Given the description of an element on the screen output the (x, y) to click on. 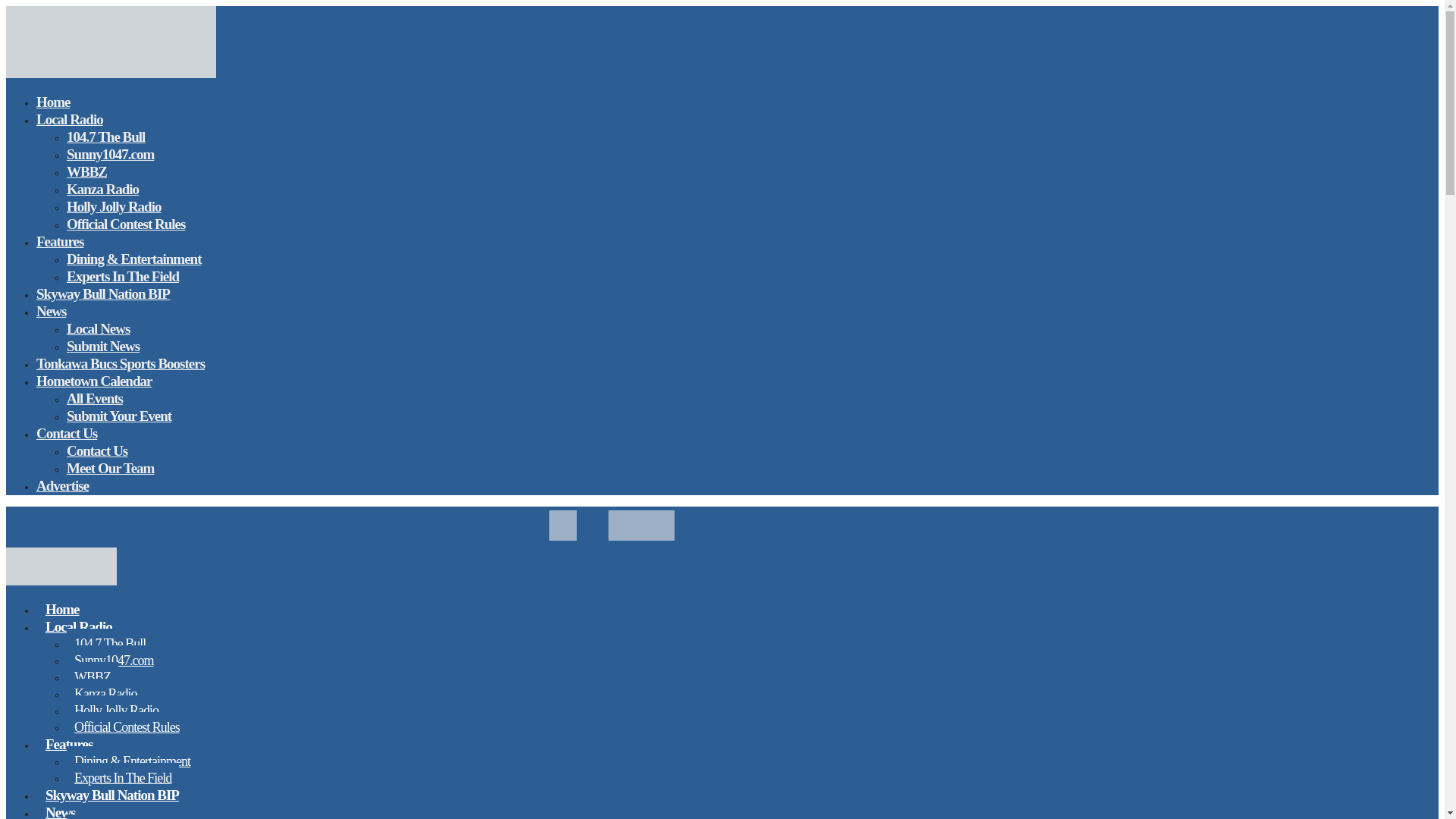
My Hometown Post (60, 580)
Experts In The Field (122, 777)
Experts In The Field (122, 276)
All Events (94, 398)
Holly Jolly Radio (115, 710)
Sunny1047.com (110, 154)
Contact Us (66, 433)
WBBZ (91, 676)
104.7 The Bull (105, 137)
Meet Our Team (110, 468)
Kanza Radio (102, 188)
Features (59, 241)
Tonkawa Bucs Sports Boosters (120, 363)
My Hometown Post (110, 73)
Home (52, 101)
